Given the description of an element on the screen output the (x, y) to click on. 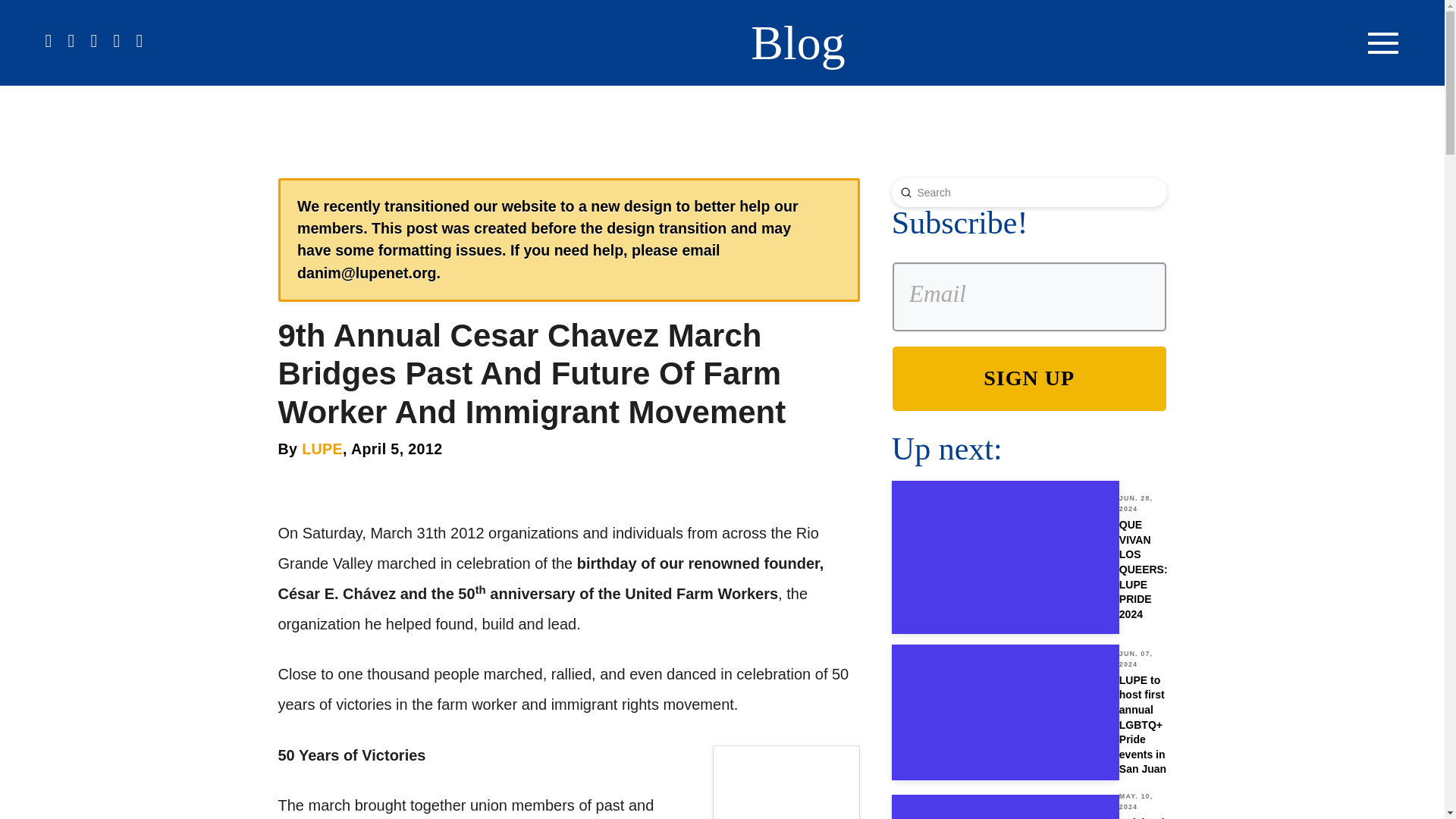
LUPE (1029, 556)
Blog (321, 448)
SIGN UP (797, 42)
Submit (1029, 378)
